Given the description of an element on the screen output the (x, y) to click on. 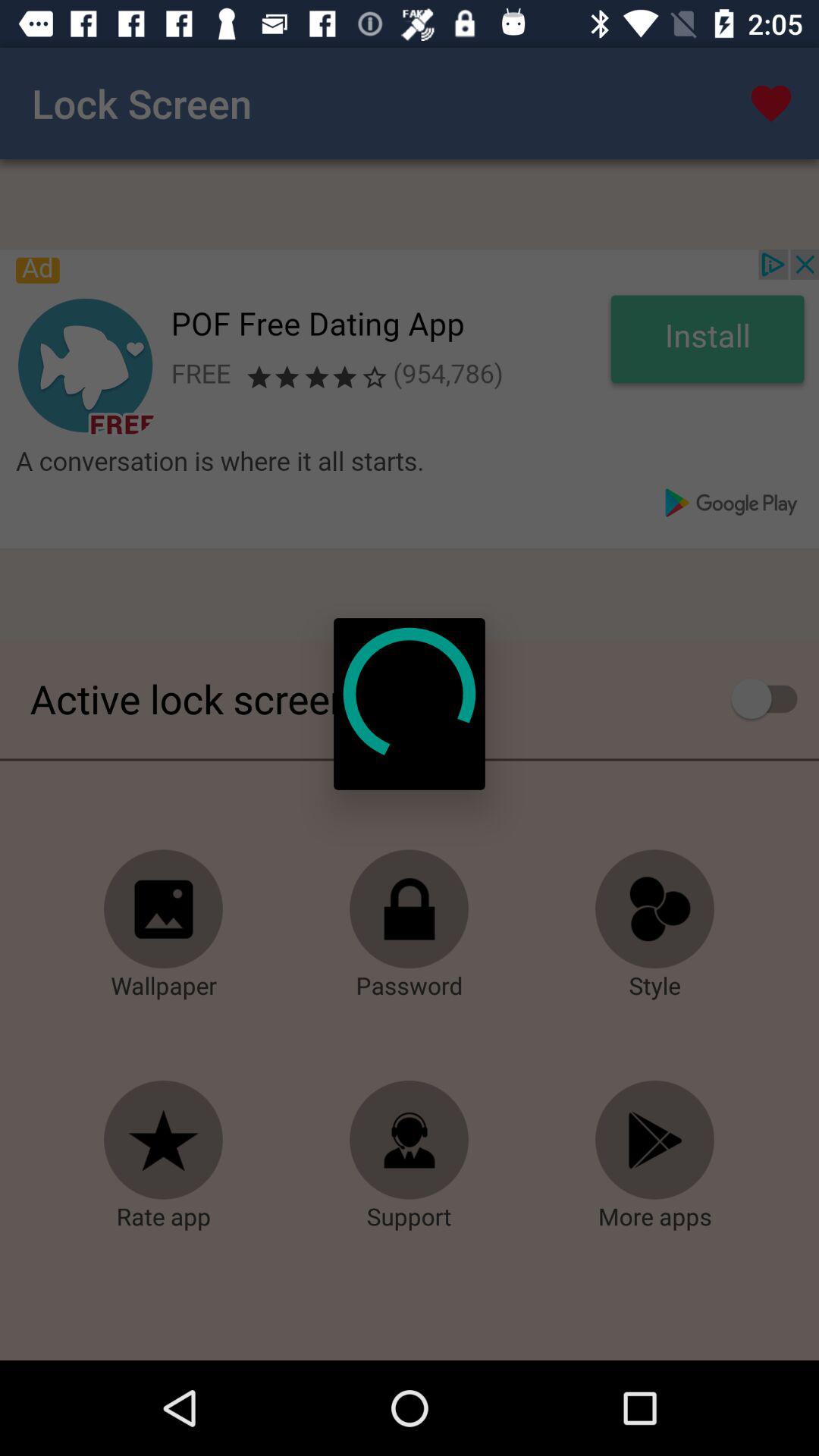
choose lock screen style (654, 909)
